Given the description of an element on the screen output the (x, y) to click on. 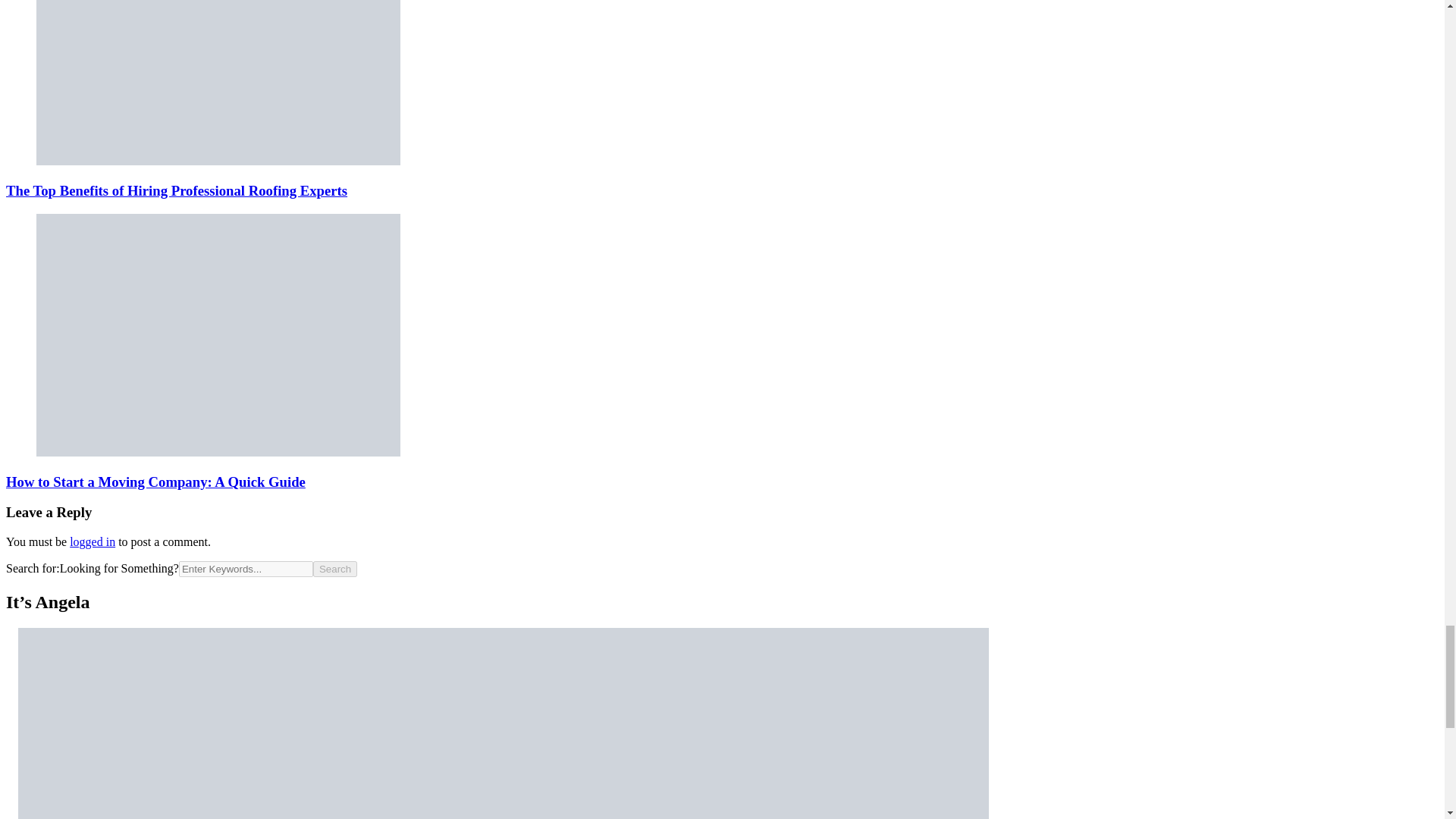
Search (334, 569)
Search (334, 569)
